Given the description of an element on the screen output the (x, y) to click on. 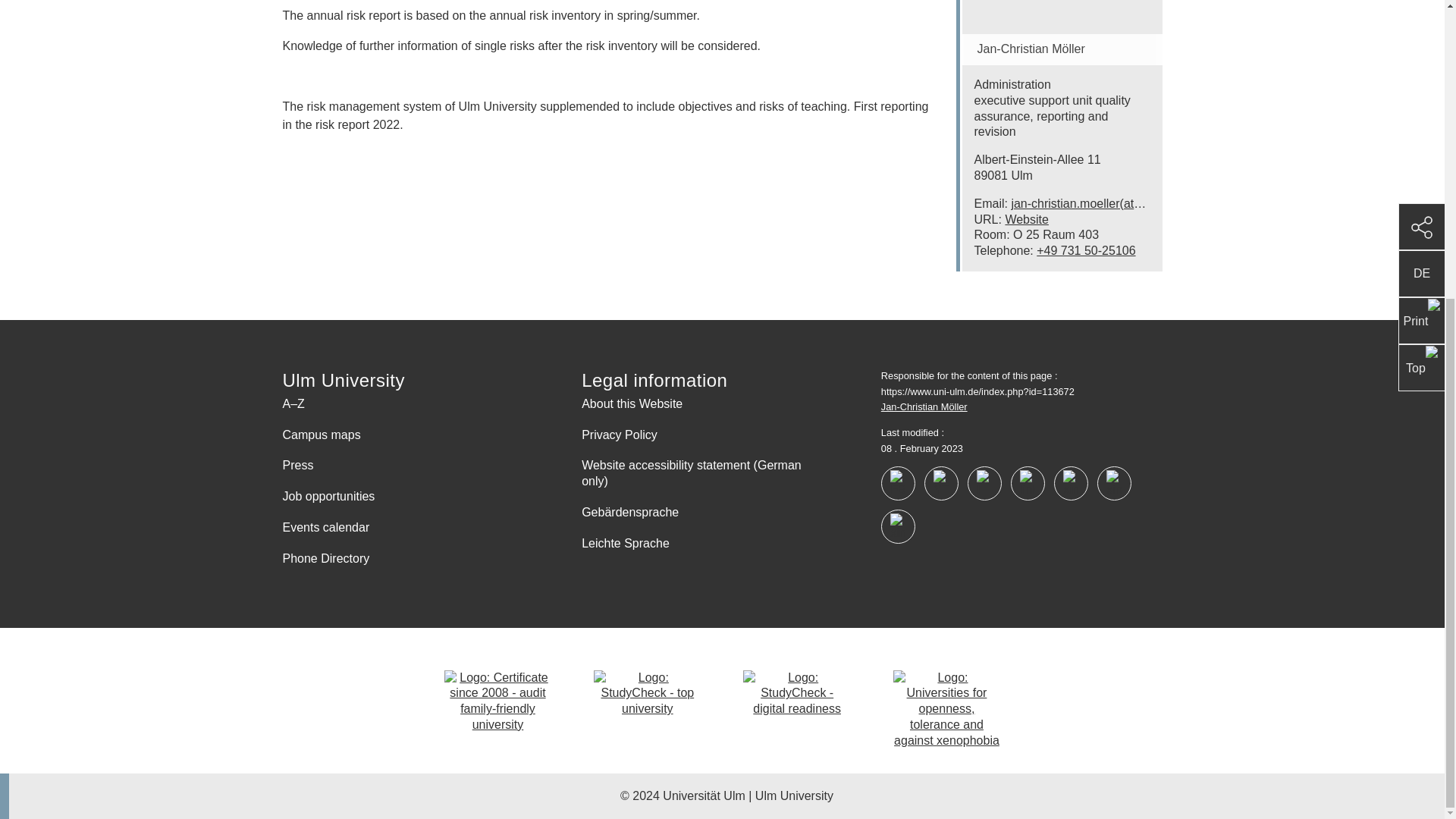
Certificate since 2008 - audit family-friendly university (497, 701)
xing (1070, 483)
instagram (984, 483)
facebook (897, 483)
Call now (1085, 250)
mastodon (1114, 483)
linkedin (1027, 483)
youtube (941, 483)
bluesky (897, 526)
